Given the description of an element on the screen output the (x, y) to click on. 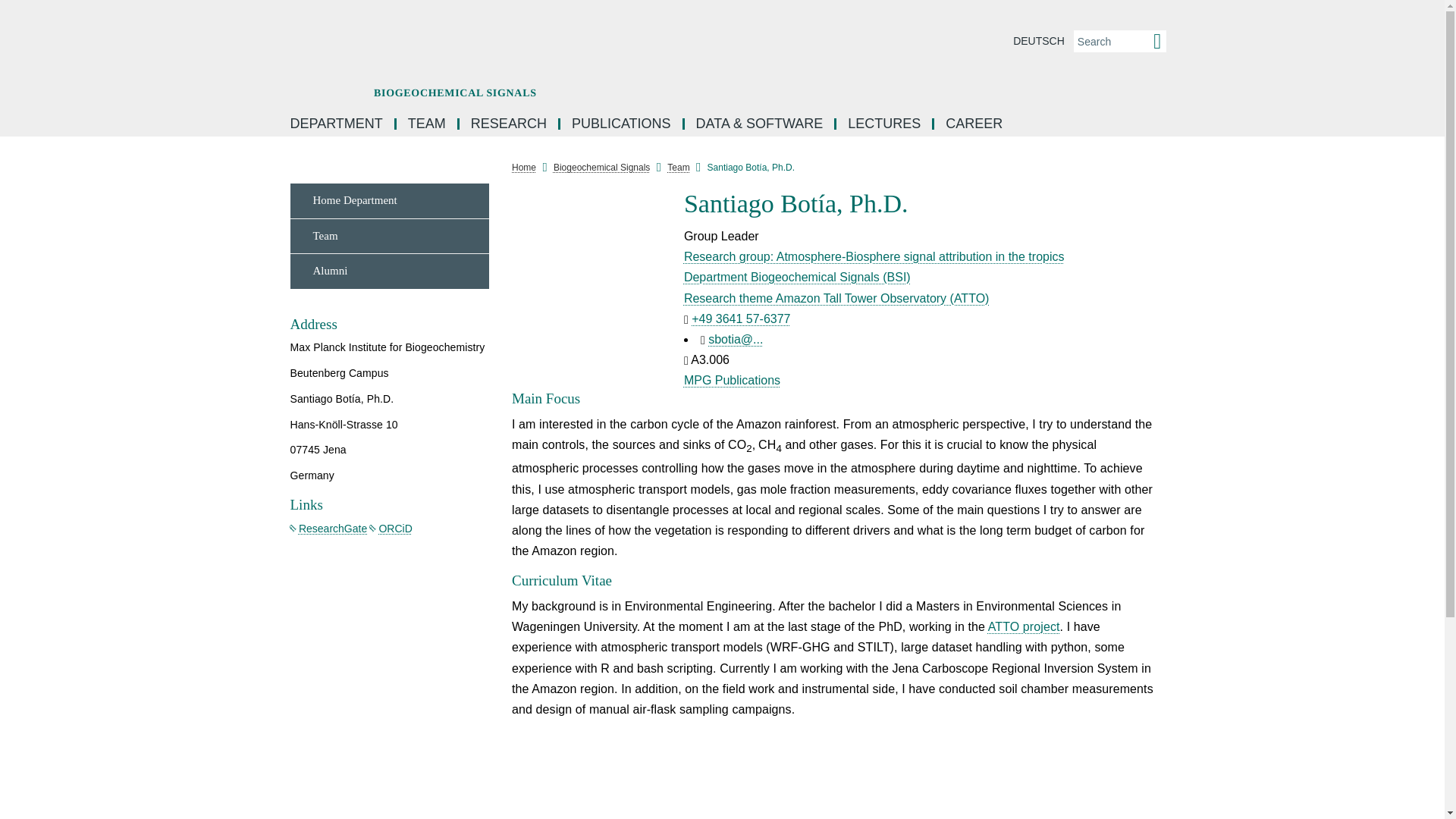
CAREER (973, 123)
TEAM (428, 123)
BIOGEOCHEMICAL SIGNALS (574, 45)
Xing (1177, 321)
DEUTSCH (1038, 41)
RESEARCH (510, 123)
Facebook (1177, 184)
BIOGEOCHEMICAL SIGNALS (574, 45)
Biogeochemical Signals (601, 167)
